Given the description of an element on the screen output the (x, y) to click on. 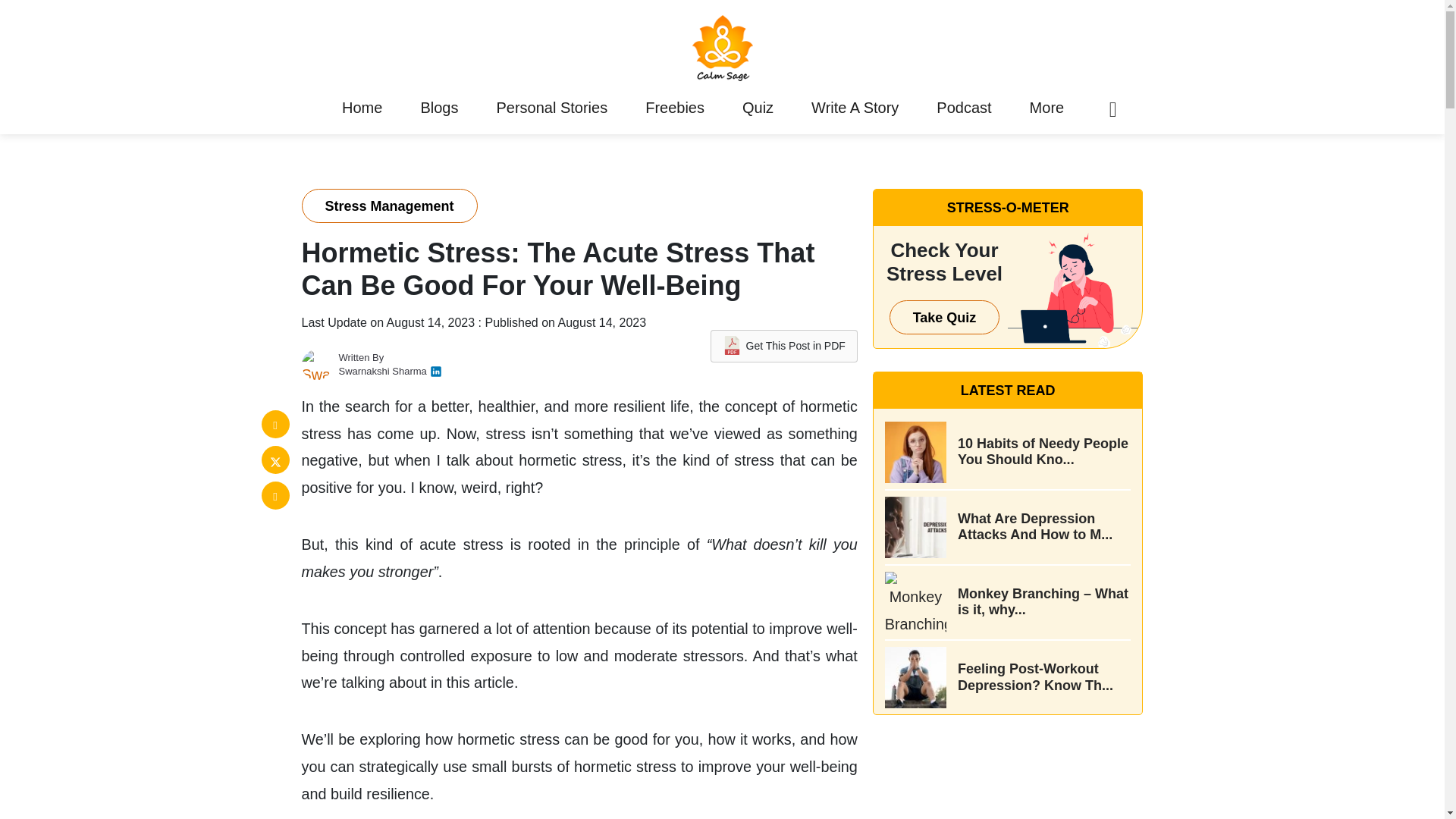
Freebies (674, 107)
Personal Stories (551, 107)
Get This Post in PDF (783, 346)
More (1046, 107)
Quiz (757, 107)
Blogs (438, 107)
Home (361, 107)
Swarnakshi Sharma (381, 370)
Write A Story (854, 107)
Stress Management (389, 205)
